Given the description of an element on the screen output the (x, y) to click on. 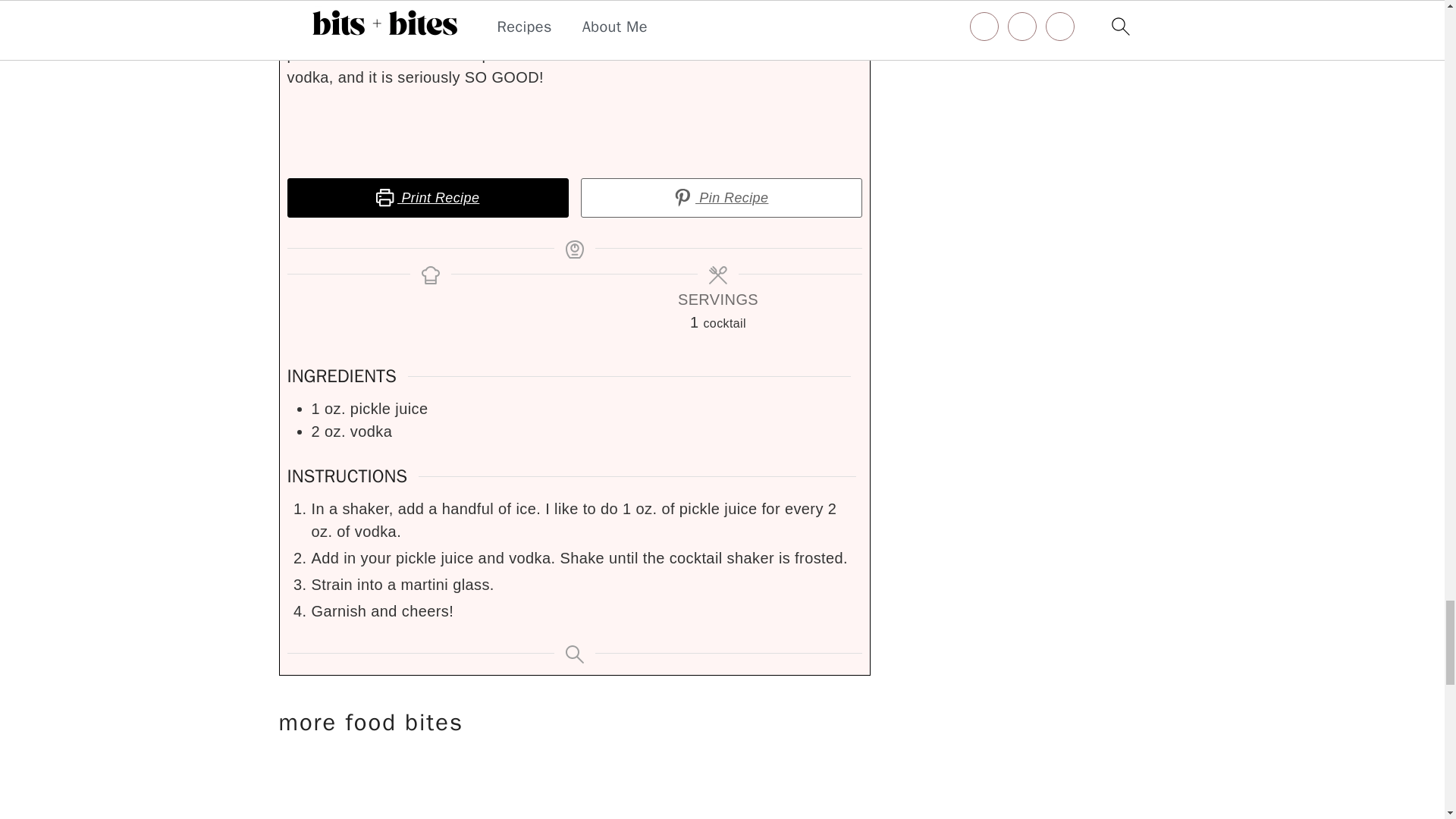
Print Recipe (426, 197)
